Given the description of an element on the screen output the (x, y) to click on. 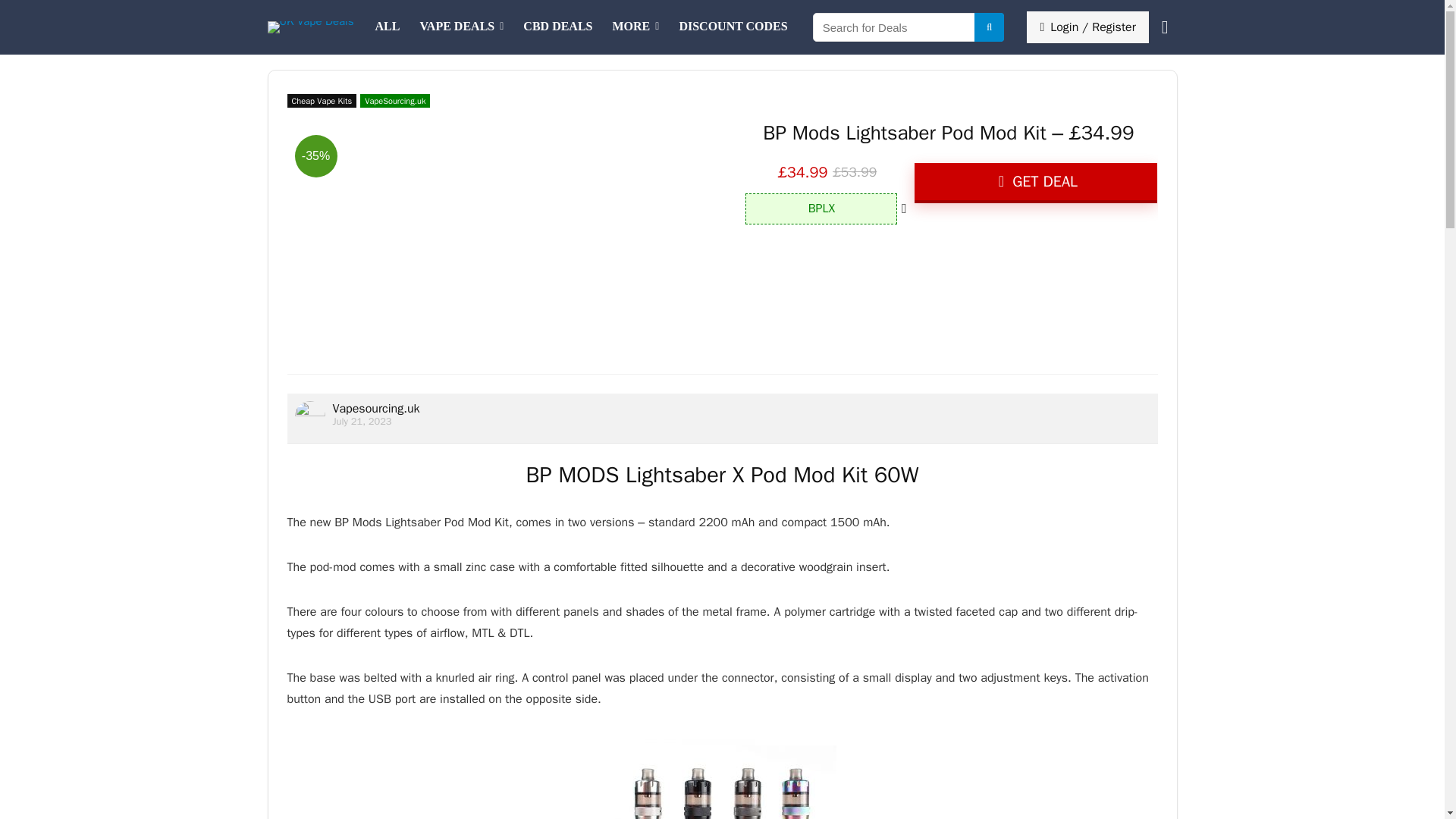
ALL (387, 27)
Vape Deals (461, 27)
UK Vape Deals  (387, 27)
Vapesourcing.uk (375, 408)
CBD DEALS (557, 27)
Cheap Vape Kits (321, 100)
GET DEAL (1035, 182)
View all posts in VapeSourcing.uk (394, 100)
DISCOUNT CODES (732, 27)
MORE (635, 27)
VAPE DEALS (461, 27)
VapeSourcing.uk (394, 100)
CBD Deals UK (557, 27)
View all posts in Cheap Vape Kits (321, 100)
